Given the description of an element on the screen output the (x, y) to click on. 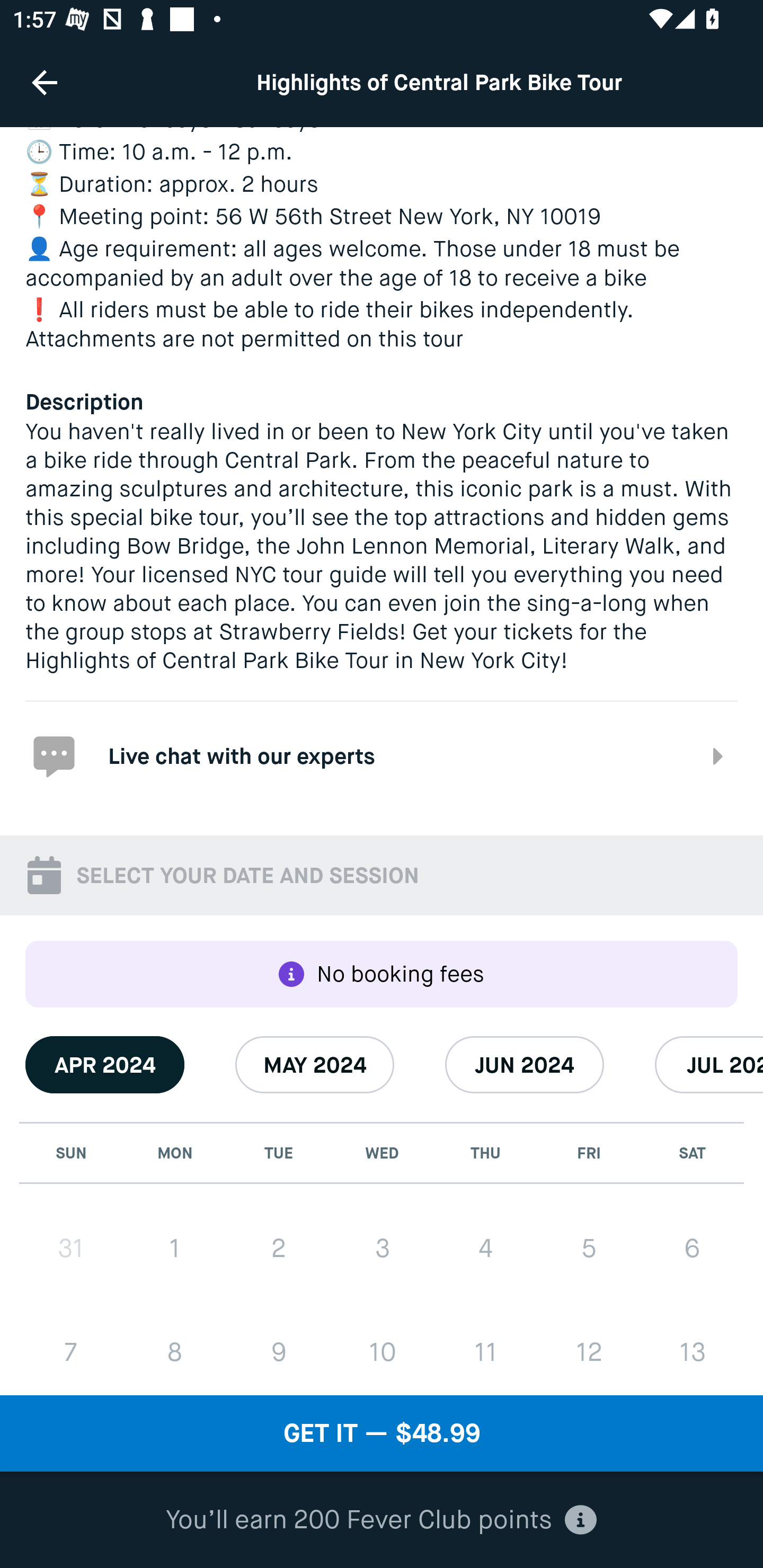
Navigate up (44, 82)
Live chat with our experts (381, 755)
APR 2024 (104, 1064)
MAY 2024 (314, 1064)
JUN 2024 (524, 1064)
JUL 2024 (708, 1064)
31 (70, 1247)
1 (174, 1247)
2 (278, 1247)
3 (382, 1247)
4 (485, 1247)
5 (588, 1247)
6 (692, 1247)
7 (70, 1350)
8 (174, 1350)
9 (278, 1350)
10 (382, 1350)
11 (485, 1350)
12 (588, 1350)
13 (692, 1350)
GET IT — $48.99 (381, 1433)
You’ll earn 200 Fever Club points (380, 1519)
